Given the description of an element on the screen output the (x, y) to click on. 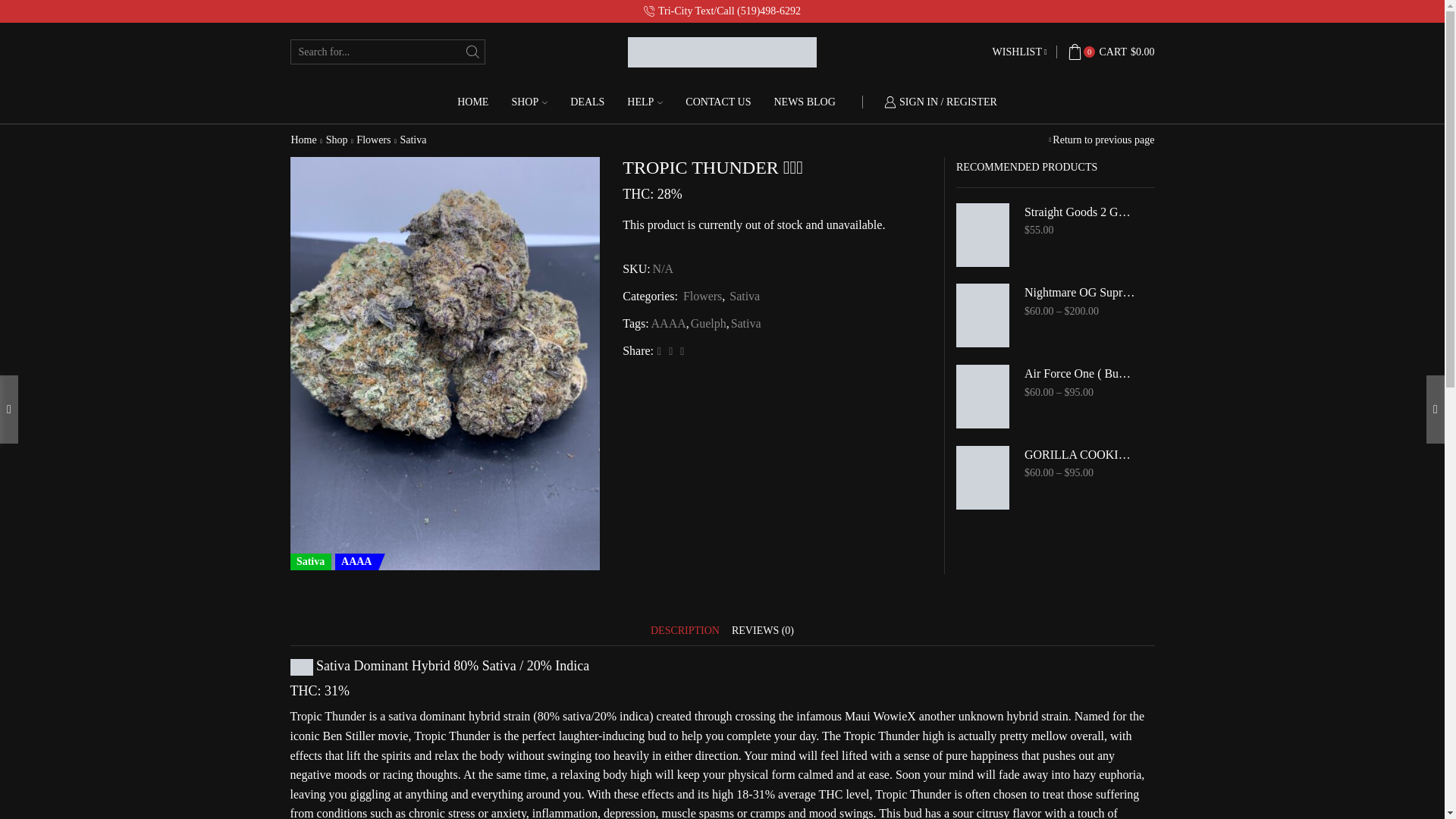
Shop (336, 140)
Sativa (744, 295)
Home (303, 140)
Sativa (745, 323)
Twitter (659, 351)
Flowers (701, 295)
Sativa (412, 140)
Return to previous page (1103, 140)
CONTACT US (718, 102)
Flowers (373, 140)
NEWS BLOG (803, 102)
Nightmare OG Supreme (1080, 292)
Guelph (707, 323)
Facebook (671, 351)
AAAA (667, 323)
